Given the description of an element on the screen output the (x, y) to click on. 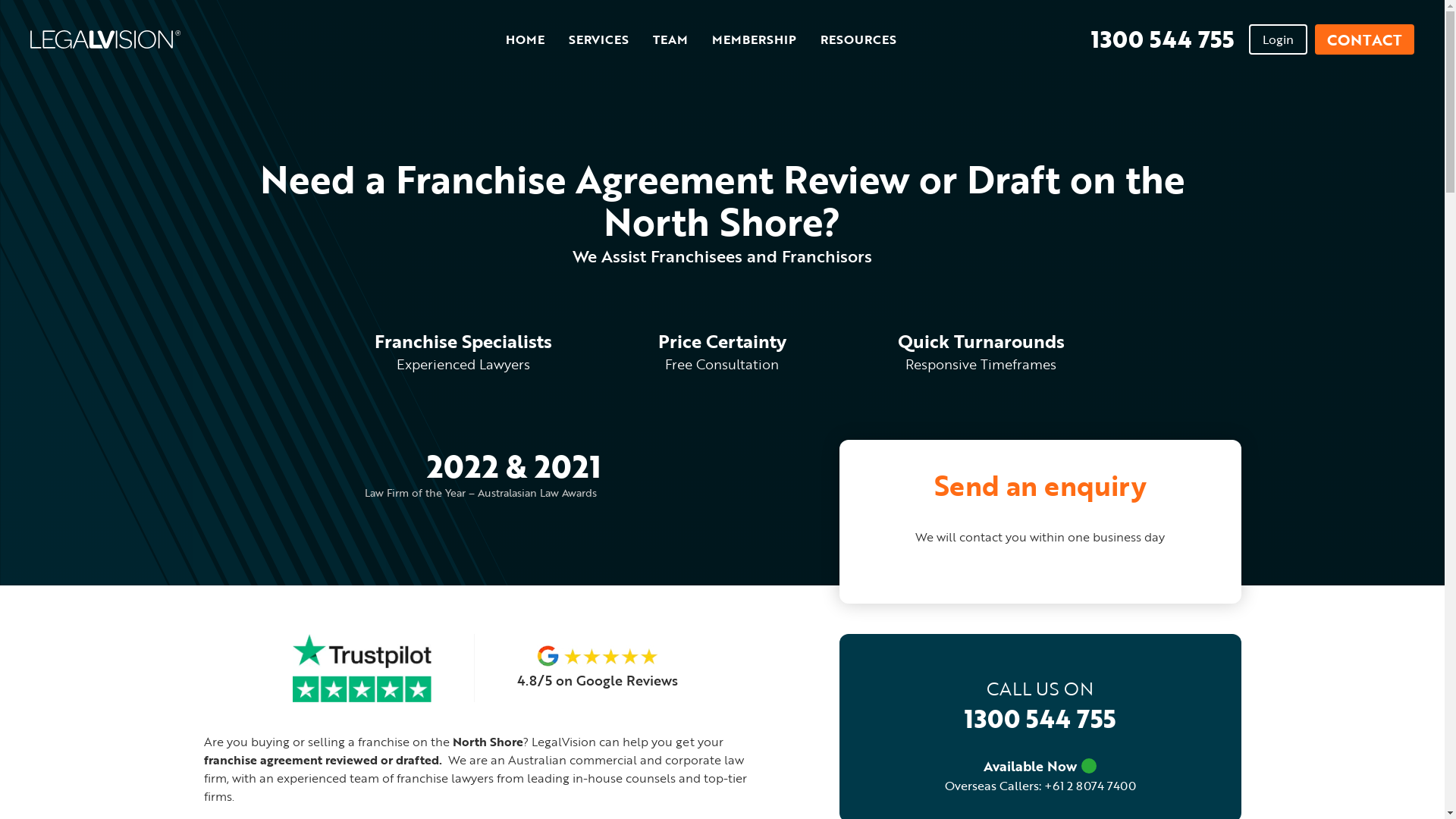
HOME Element type: text (524, 40)
RESOURCES Element type: text (858, 40)
Login Element type: text (1277, 39)
TEAM Element type: text (669, 40)
MEMBERSHIP Element type: text (754, 40)
CONTACT Element type: text (1364, 39)
+61 2 8074 7400 Element type: text (1089, 785)
1300 544 755 Element type: text (1039, 718)
SERVICES Element type: text (598, 40)
1300 544 755 Element type: text (1152, 39)
LegalVision Element type: text (267, 39)
Search Element type: text (909, 39)
